Given the description of an element on the screen output the (x, y) to click on. 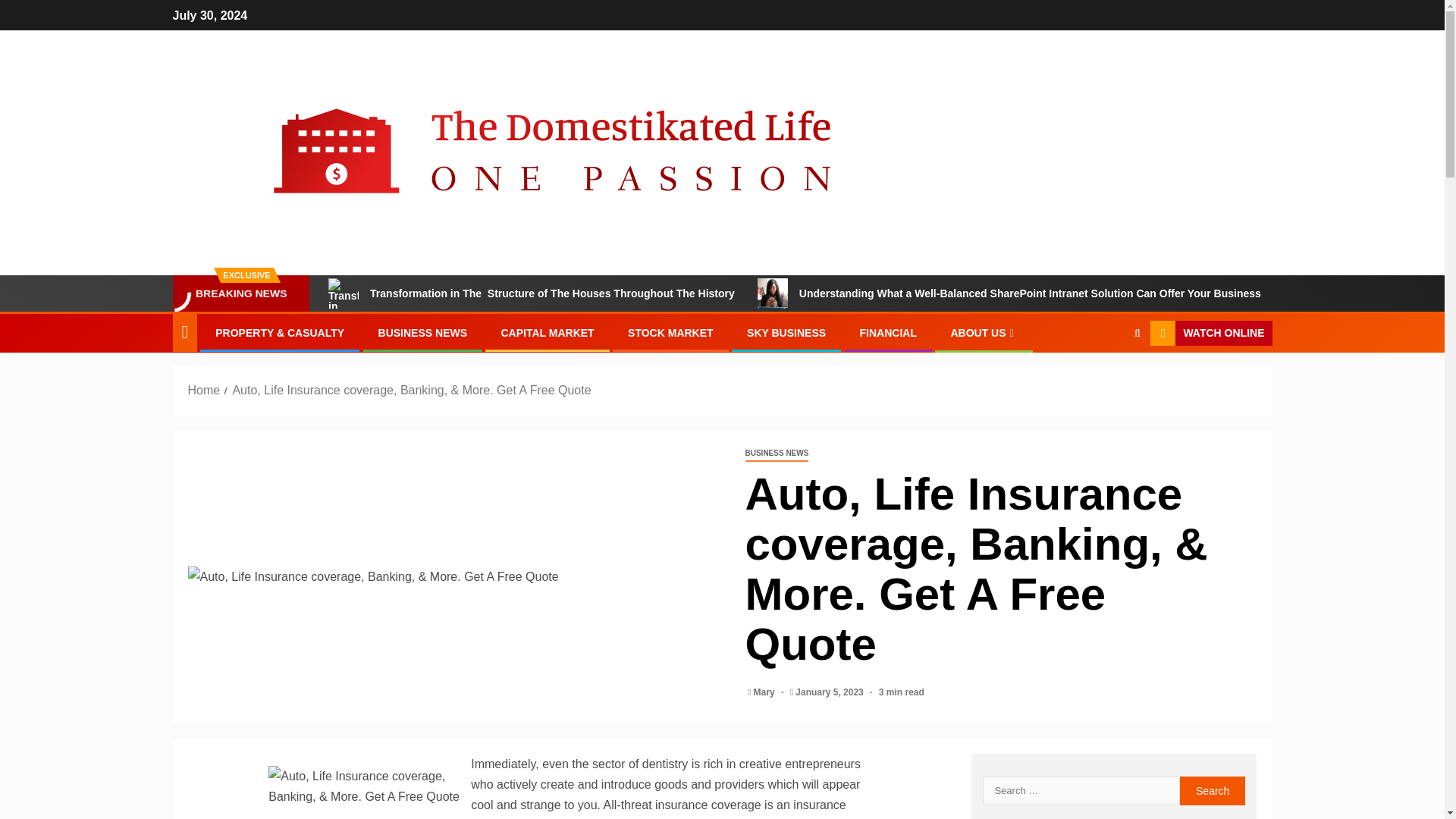
Search (1212, 790)
Home (204, 390)
WATCH ONLINE (1210, 333)
BUSINESS NEWS (776, 453)
ABOUT US (983, 332)
STOCK MARKET (670, 332)
SKY BUSINESS (785, 332)
FINANCIAL (888, 332)
Mary (765, 692)
Search (1107, 379)
BUSINESS NEWS (422, 332)
Search (1212, 790)
